Given the description of an element on the screen output the (x, y) to click on. 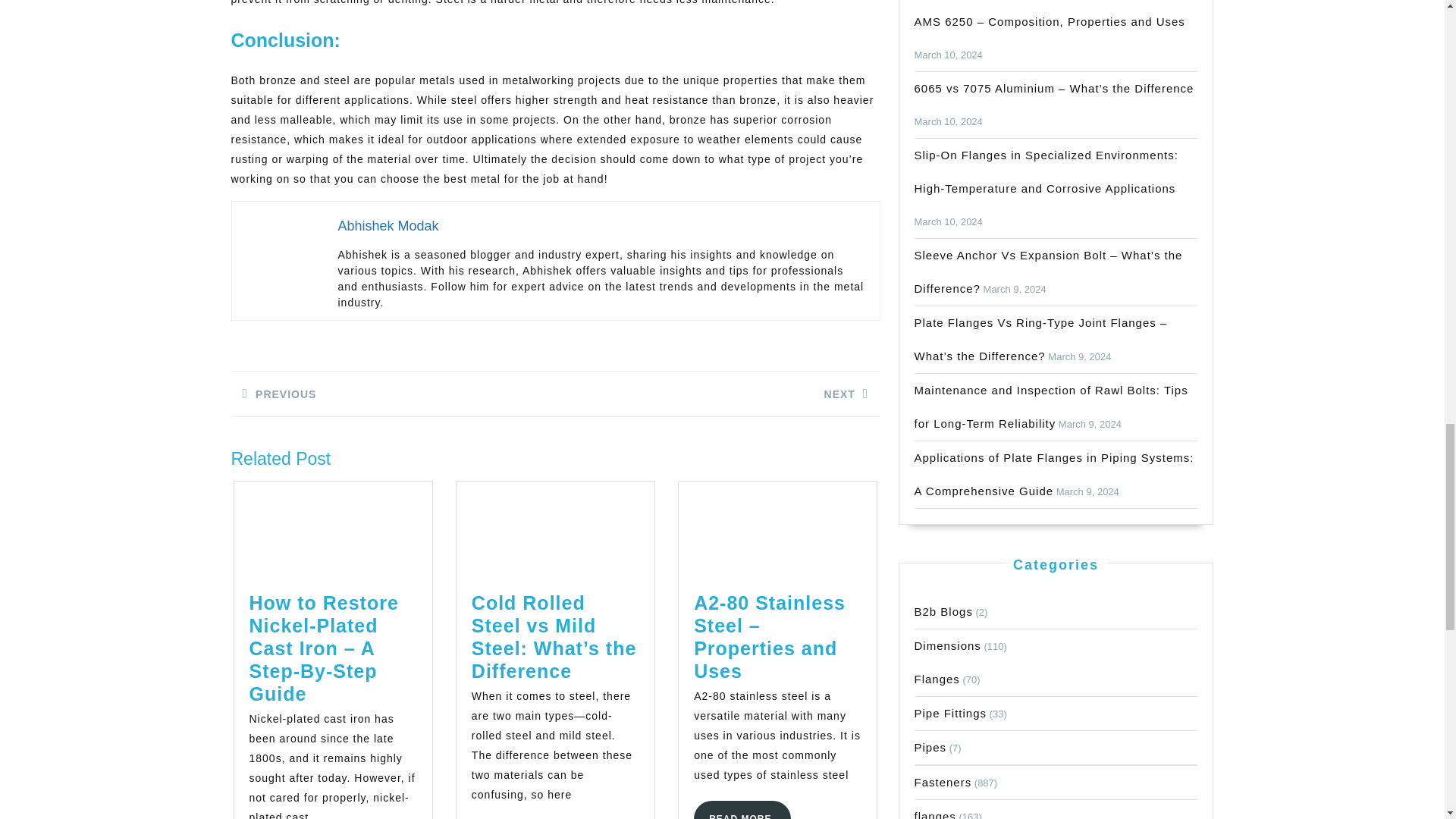
Abhishek Modak (742, 809)
